Given the description of an element on the screen output the (x, y) to click on. 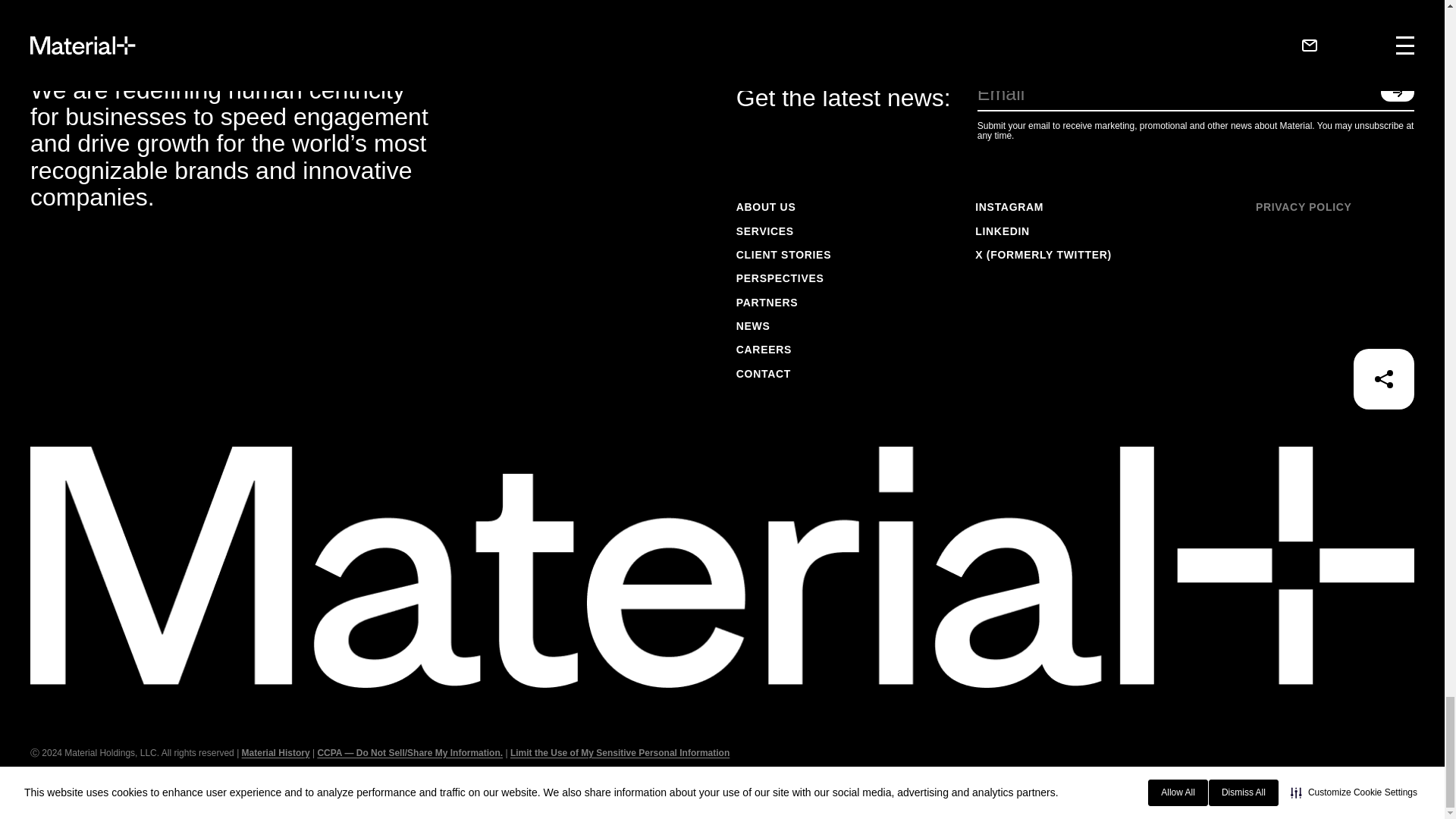
ABOUT US (783, 207)
SERVICES (783, 231)
